Given the description of an element on the screen output the (x, y) to click on. 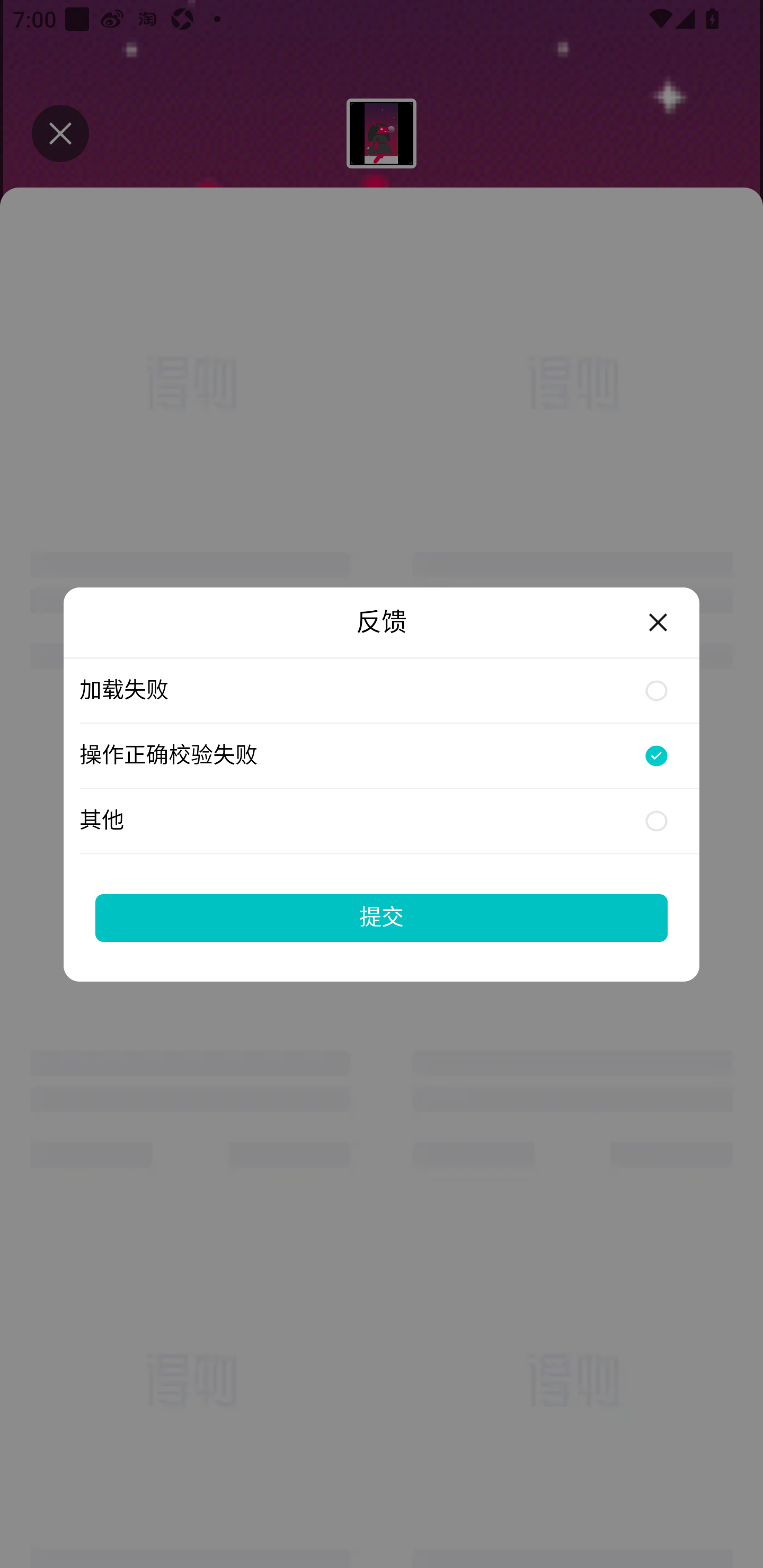
提交 (381, 917)
